Given the description of an element on the screen output the (x, y) to click on. 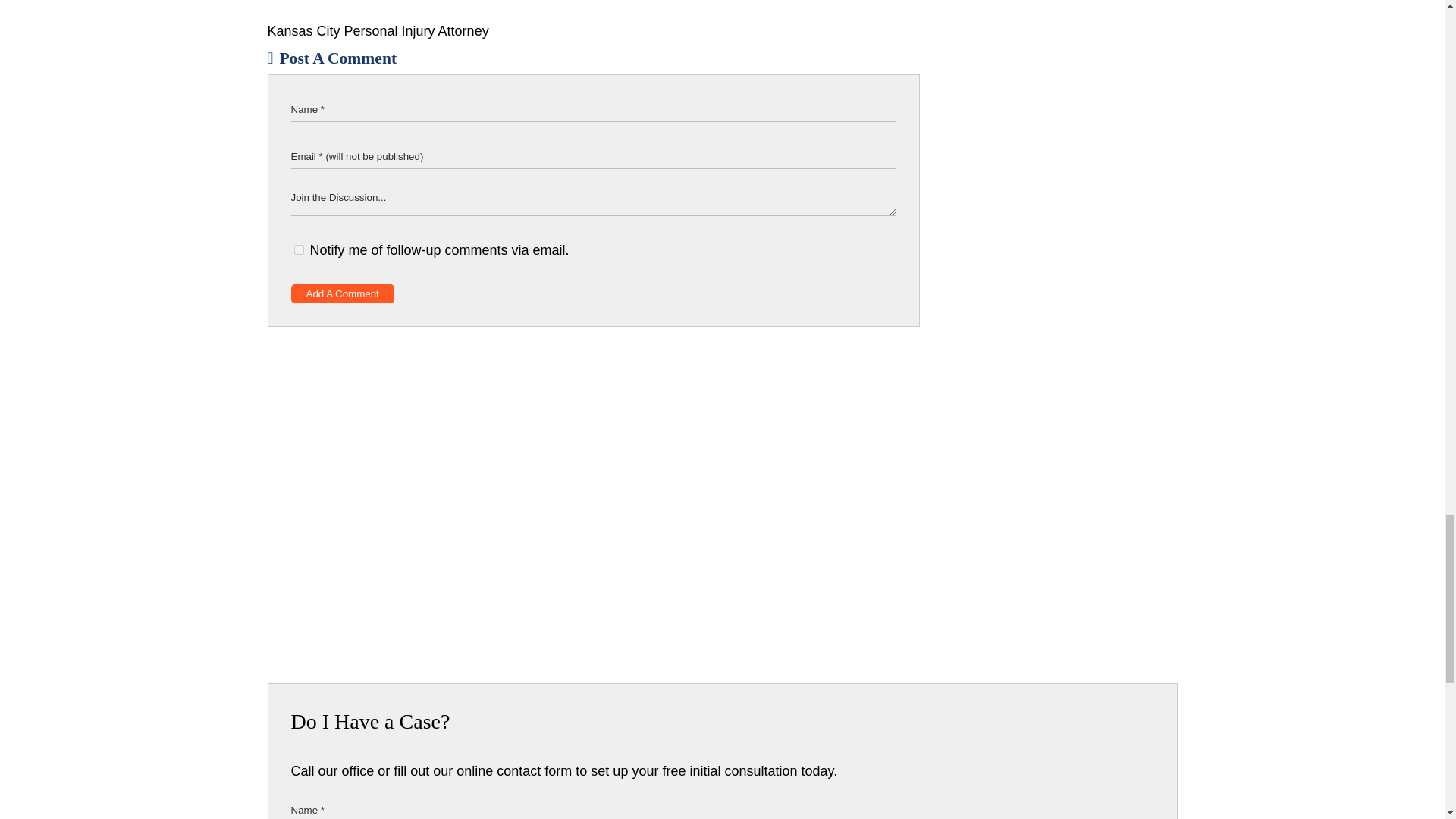
1 (299, 249)
